Given the description of an element on the screen output the (x, y) to click on. 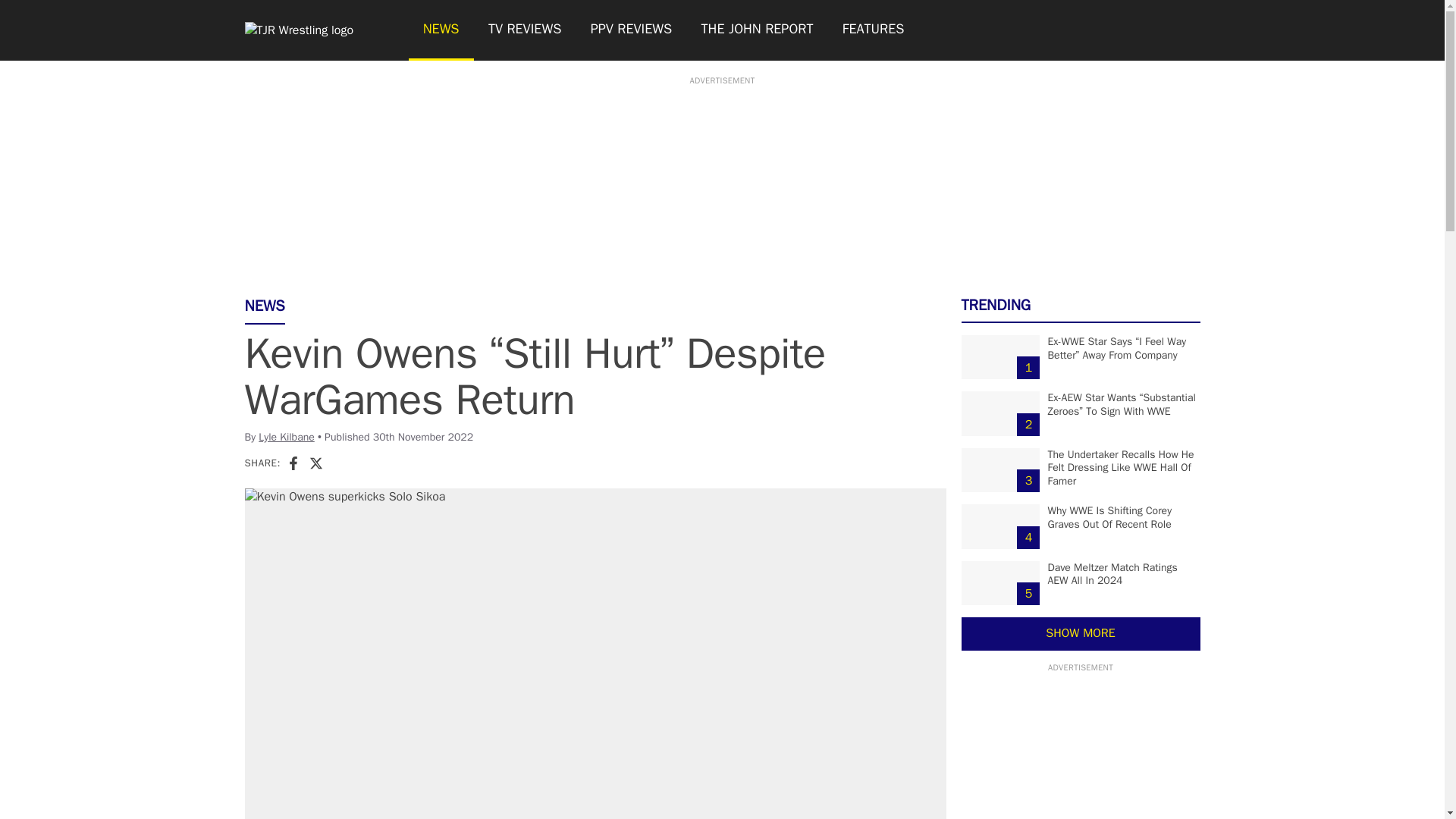
THE JOHN REPORT (756, 30)
Facebook (292, 462)
X (315, 462)
X (315, 463)
Lyle Kilbane (286, 436)
TV REVIEWS (525, 30)
NEWS (440, 30)
FEATURES (873, 30)
PPV REVIEWS (631, 30)
Facebook (292, 463)
